Given the description of an element on the screen output the (x, y) to click on. 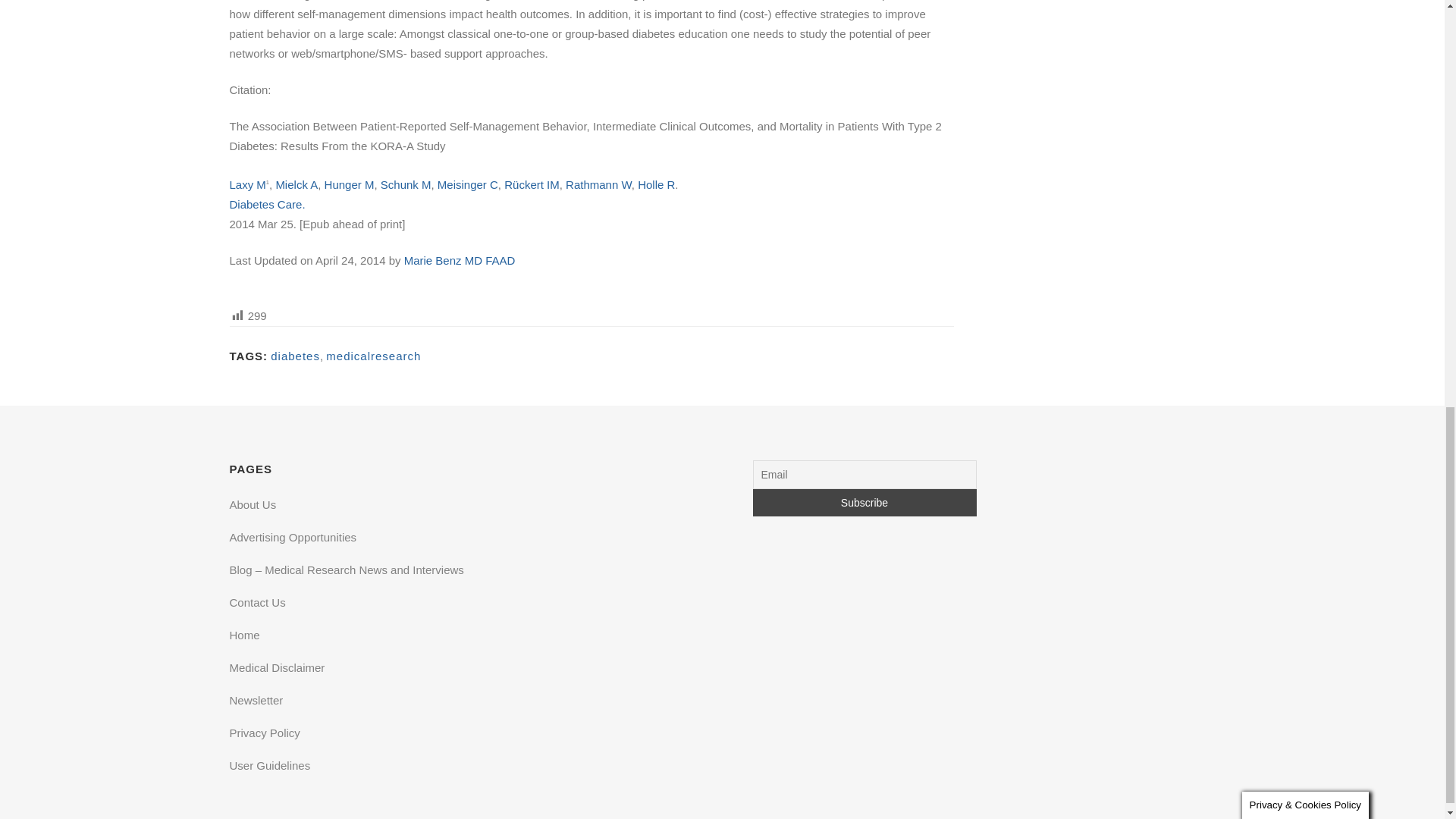
Subscribe (863, 502)
Diabetes care. (266, 204)
